Given the description of an element on the screen output the (x, y) to click on. 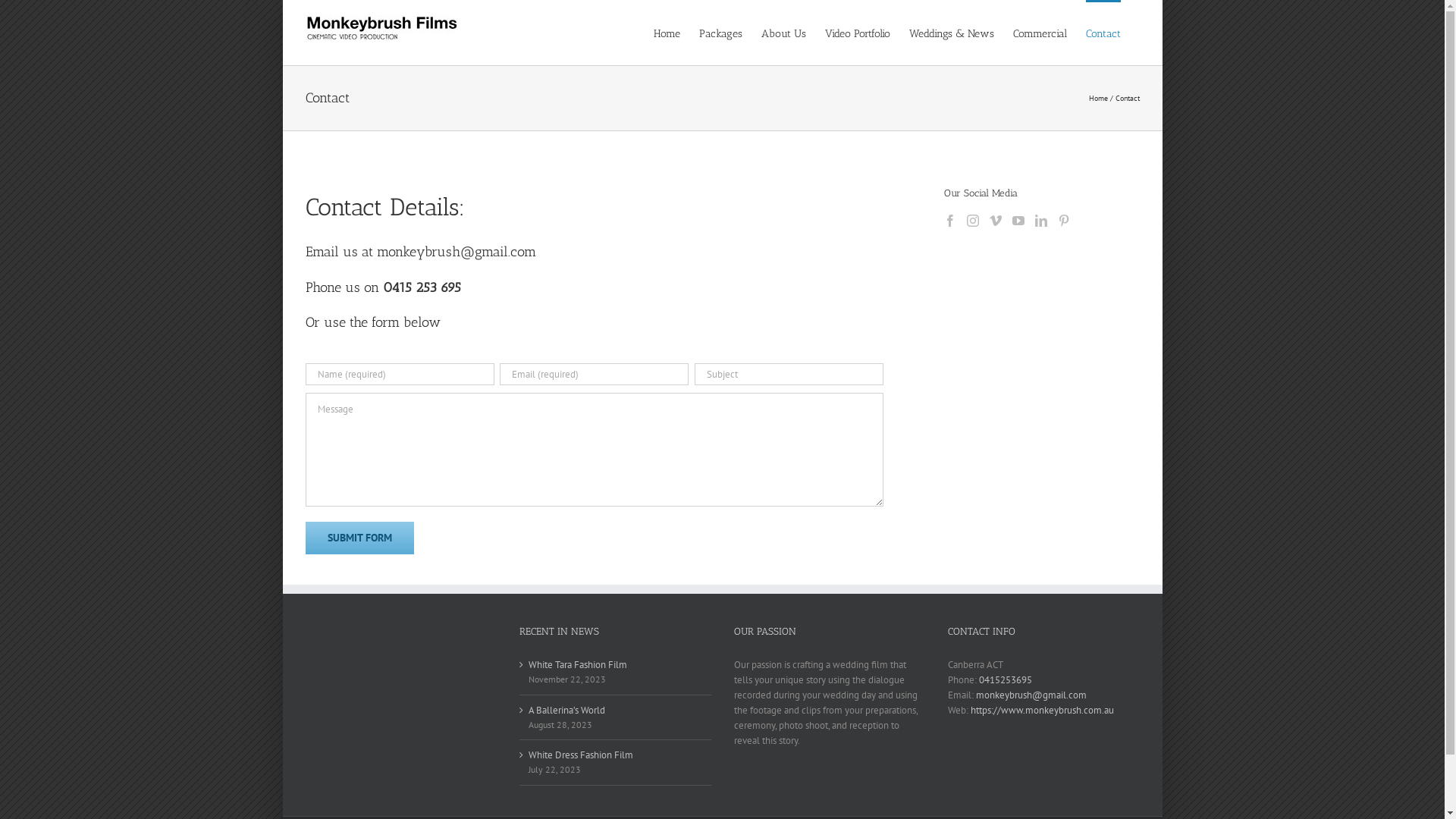
0415253695 Element type: text (1005, 679)
LinkedIn Element type: hover (1041, 220)
About Us Element type: text (783, 32)
Commercial Element type: text (1039, 32)
Vimeo Element type: hover (995, 220)
White Dress Fashion Film Element type: text (615, 754)
Weddings & News Element type: text (950, 32)
Pinterest Element type: hover (1063, 220)
https://www.monkeybrush.com.au Element type: text (1041, 709)
Facebook Element type: hover (950, 220)
Instagram Element type: hover (972, 220)
YouTube Element type: hover (1018, 220)
Contact Element type: text (1102, 32)
Home Element type: text (666, 32)
Home Element type: text (1097, 98)
Video Portfolio Element type: text (857, 32)
Packages Element type: text (720, 32)
monkeybrush@gmail.com Element type: text (1030, 694)
White Tara Fashion Film Element type: text (615, 664)
Submit Form Element type: text (358, 537)
